Given the description of an element on the screen output the (x, y) to click on. 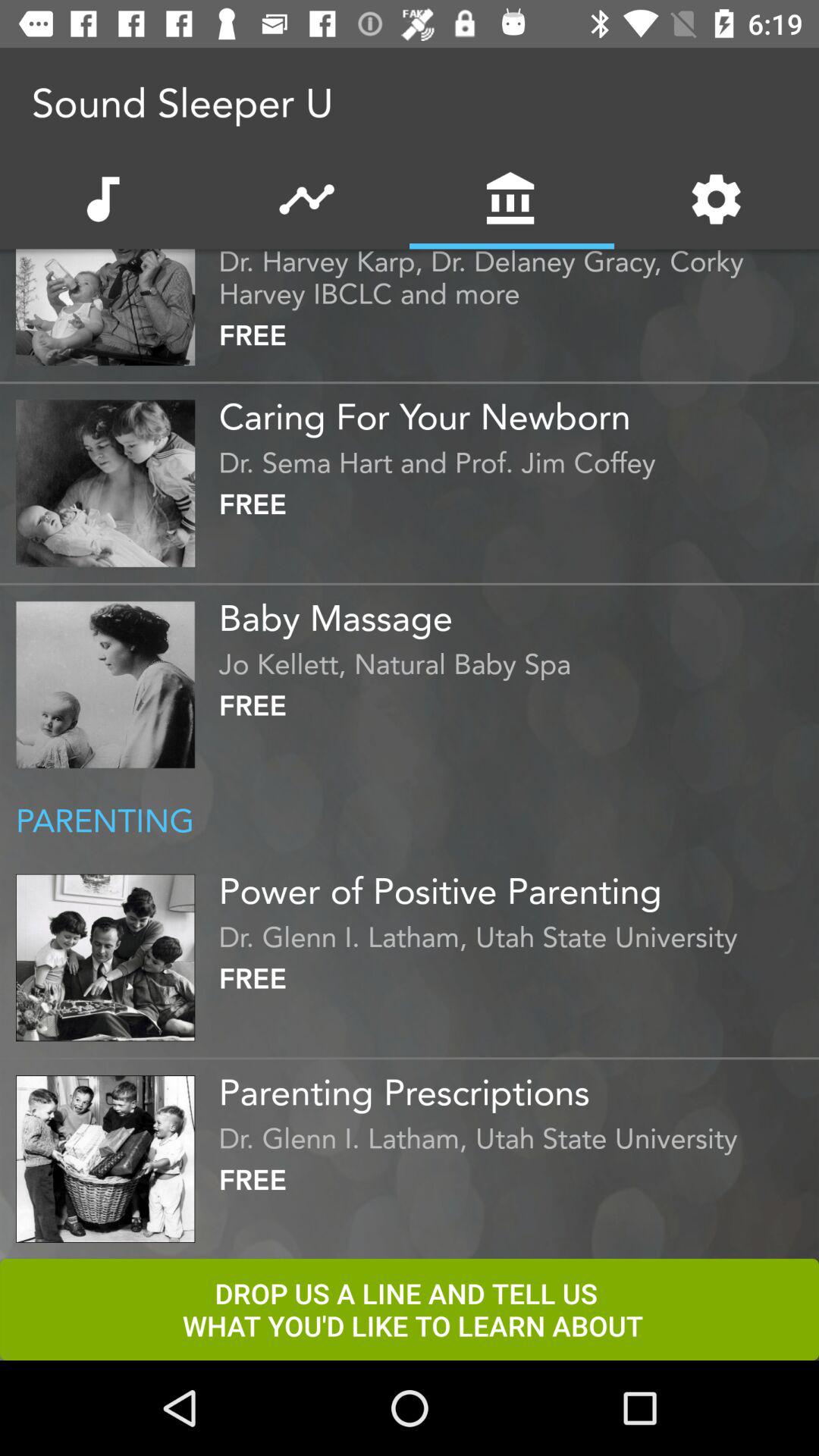
turn off the icon above the dr glenn i icon (515, 885)
